Given the description of an element on the screen output the (x, y) to click on. 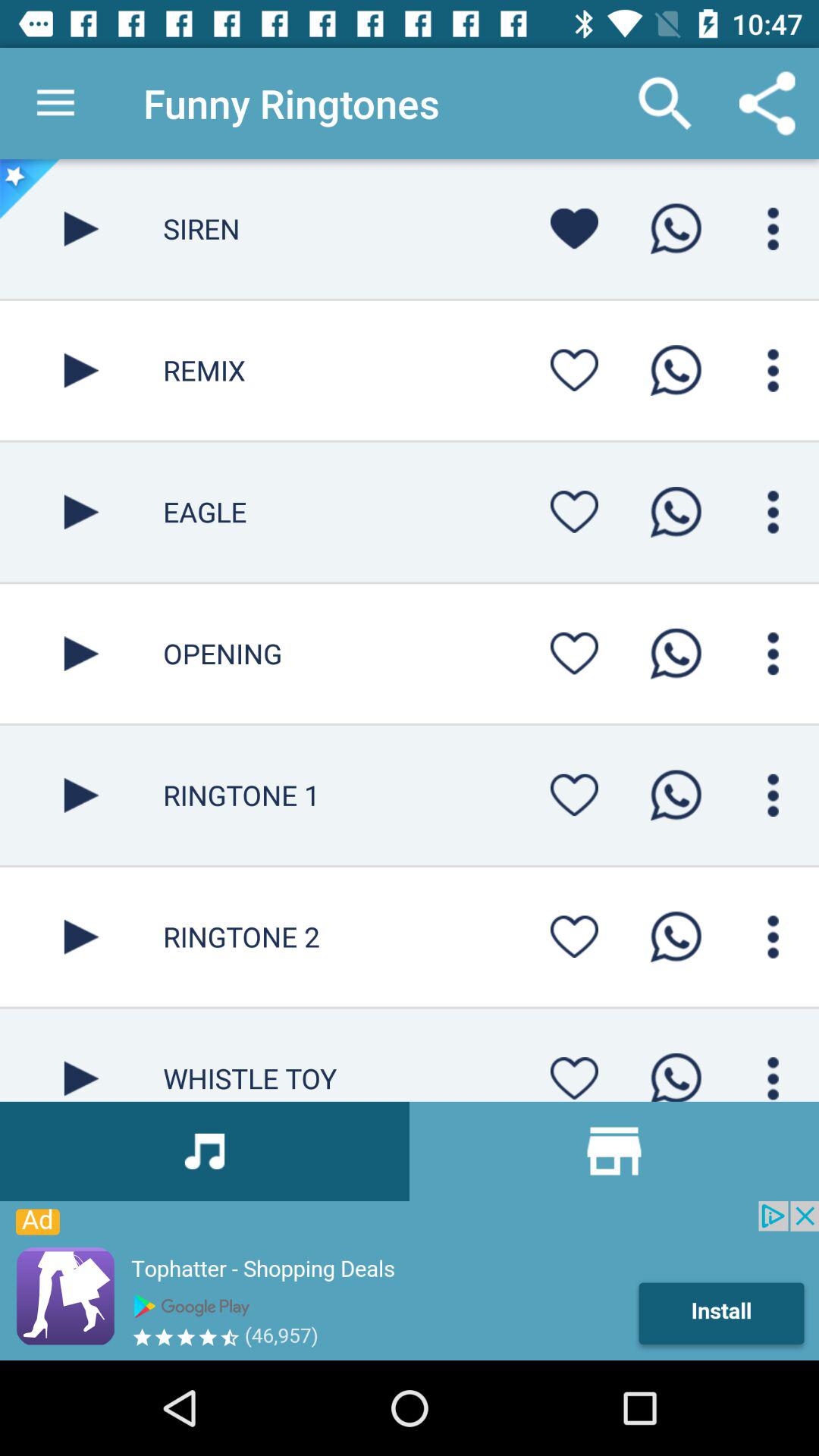
switch to play tone (81, 795)
